Given the description of an element on the screen output the (x, y) to click on. 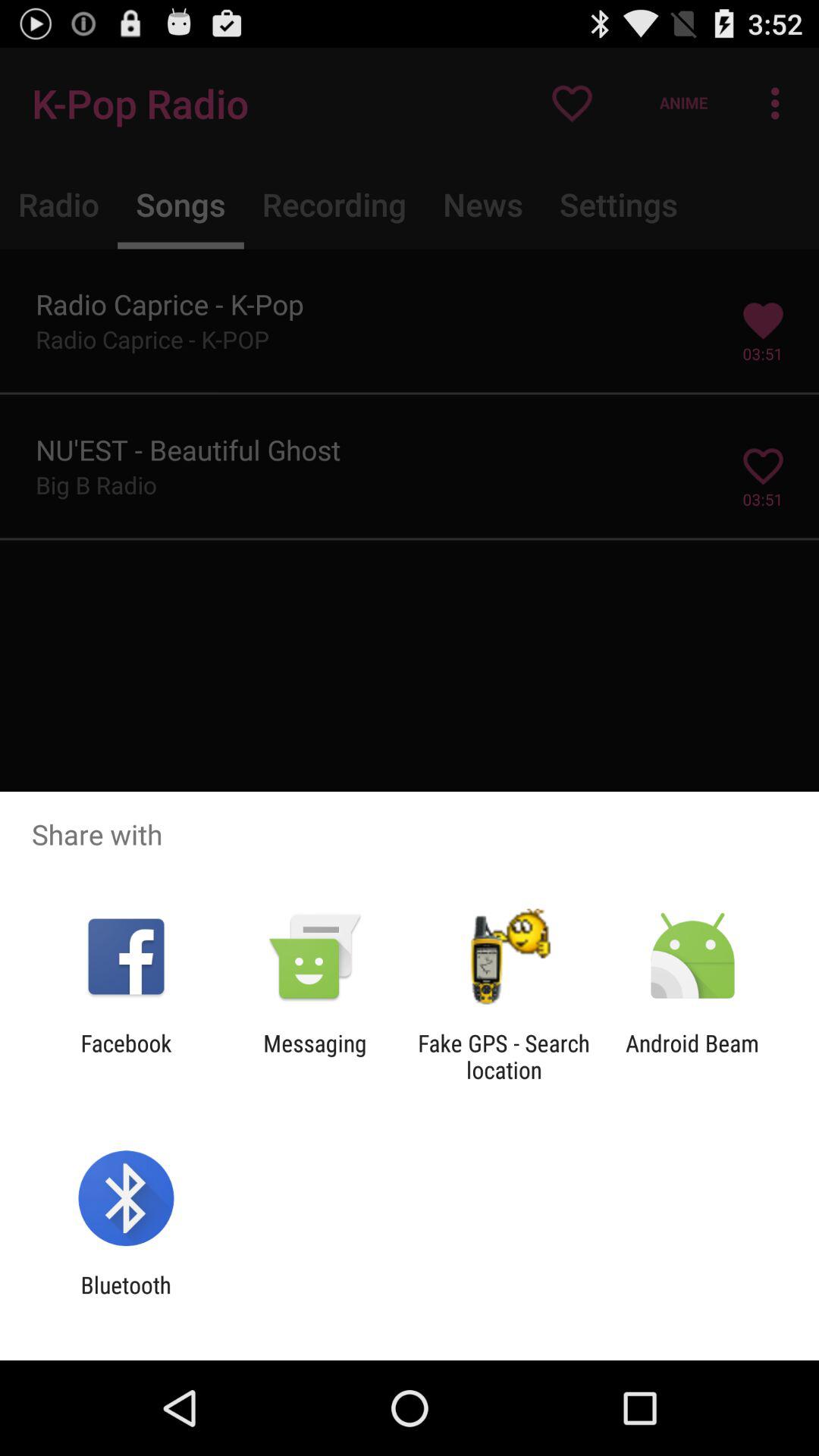
turn on app next to android beam icon (503, 1056)
